Given the description of an element on the screen output the (x, y) to click on. 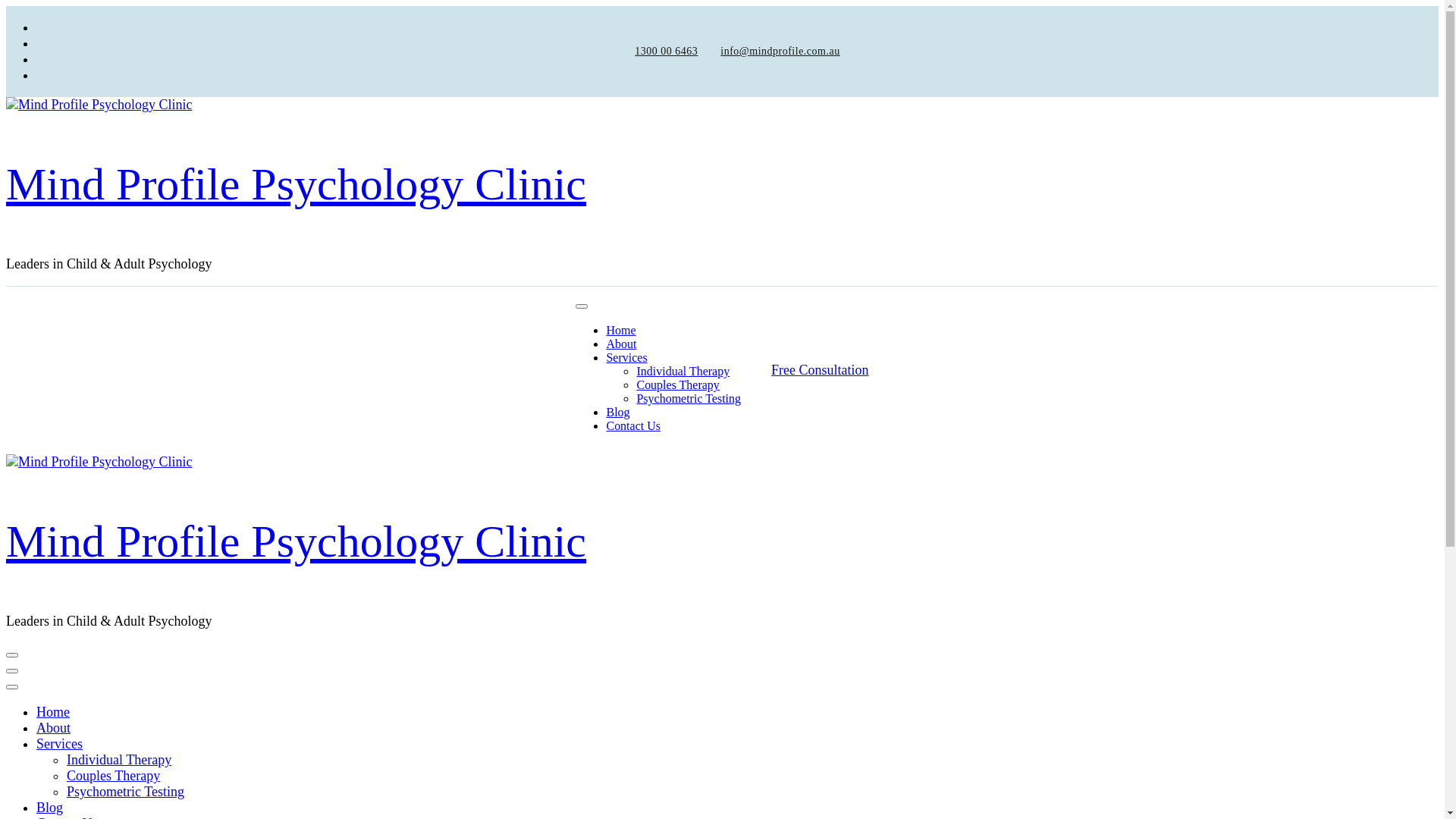
Contact Us Element type: text (632, 425)
Individual Therapy Element type: text (682, 370)
Blog Element type: text (617, 412)
Psychometric Testing Element type: text (688, 398)
Individual Therapy Element type: text (118, 759)
Services Element type: text (625, 357)
Psychometric Testing Element type: text (125, 791)
Blog Element type: text (49, 807)
Mind Profile Psychology Clinic Element type: text (296, 541)
1300 00 6463 Element type: text (665, 50)
Home Element type: text (620, 330)
Home Element type: text (52, 711)
info@mindprofile.com.au Element type: text (779, 50)
Skip to content (Press Enter) Element type: text (5, 5)
Mind Profile Psychology Clinic Element type: text (296, 184)
Couples Therapy Element type: text (677, 384)
Services Element type: text (59, 743)
Free Consultation Element type: text (820, 369)
About Element type: text (53, 727)
About Element type: text (620, 343)
Couples Therapy Element type: text (113, 775)
